Given the description of an element on the screen output the (x, y) to click on. 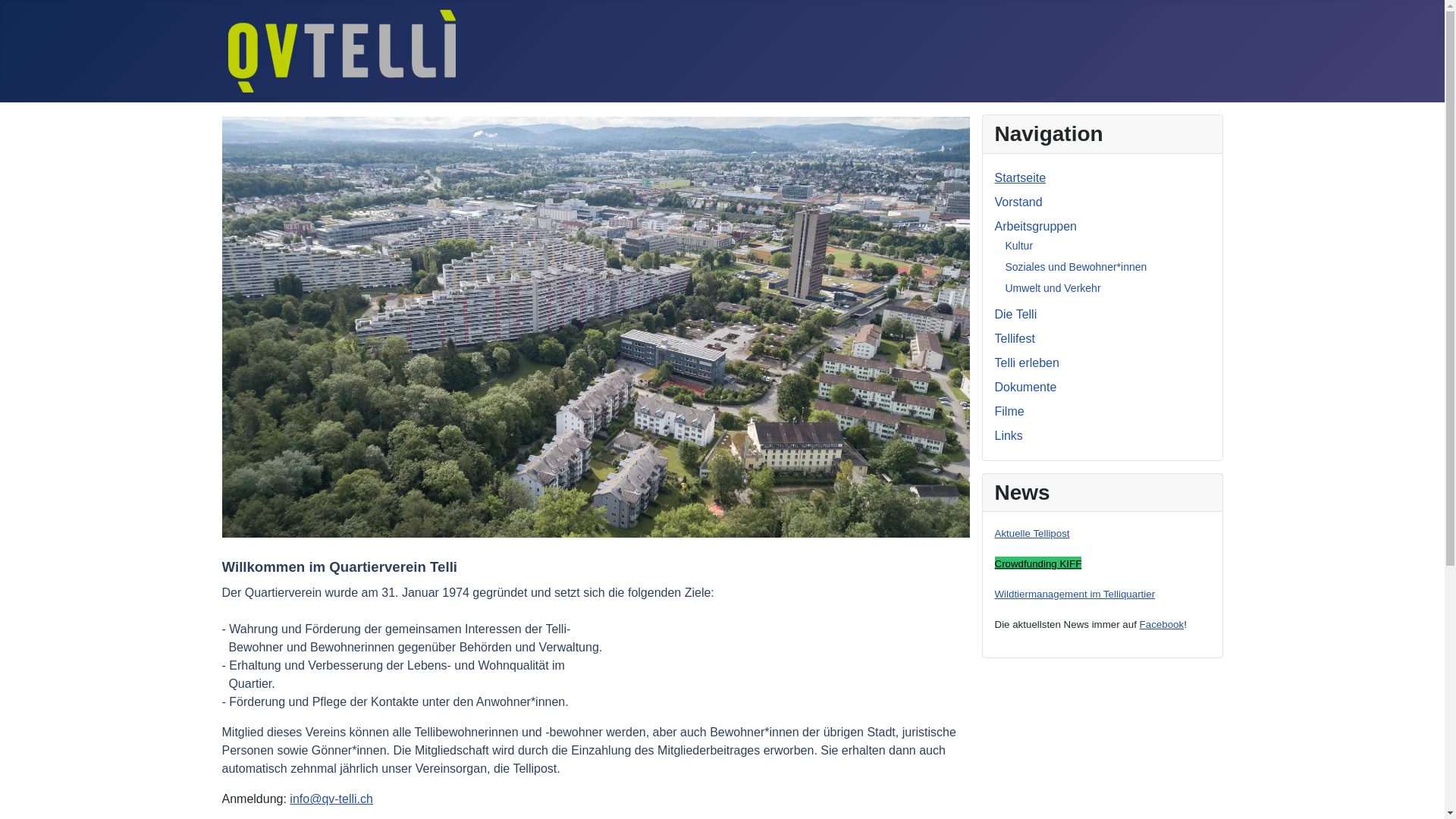
info@qv-telli.ch Element type: text (331, 798)
Tellifest Element type: text (1014, 338)
Filme Element type: text (1009, 410)
Die Telli Element type: text (1015, 313)
Telli erleben Element type: text (1026, 362)
Wildtiermanagement im Telliquartier Element type: text (1074, 593)
Links Element type: text (1008, 435)
Startseite Element type: text (1020, 177)
Facebook Element type: text (1161, 624)
Soziales und Bewohner*innen Element type: text (1076, 266)
Umwelt und Verkehr Element type: text (1053, 288)
Aktuelle Tellipost Element type: text (1032, 533)
Vorstand Element type: text (1018, 201)
Dokumente Element type: text (1025, 386)
Crowdfunding KIFF Element type: text (1038, 562)
Arbeitsgruppen Element type: text (1035, 225)
Kultur Element type: text (1019, 245)
